Given the description of an element on the screen output the (x, y) to click on. 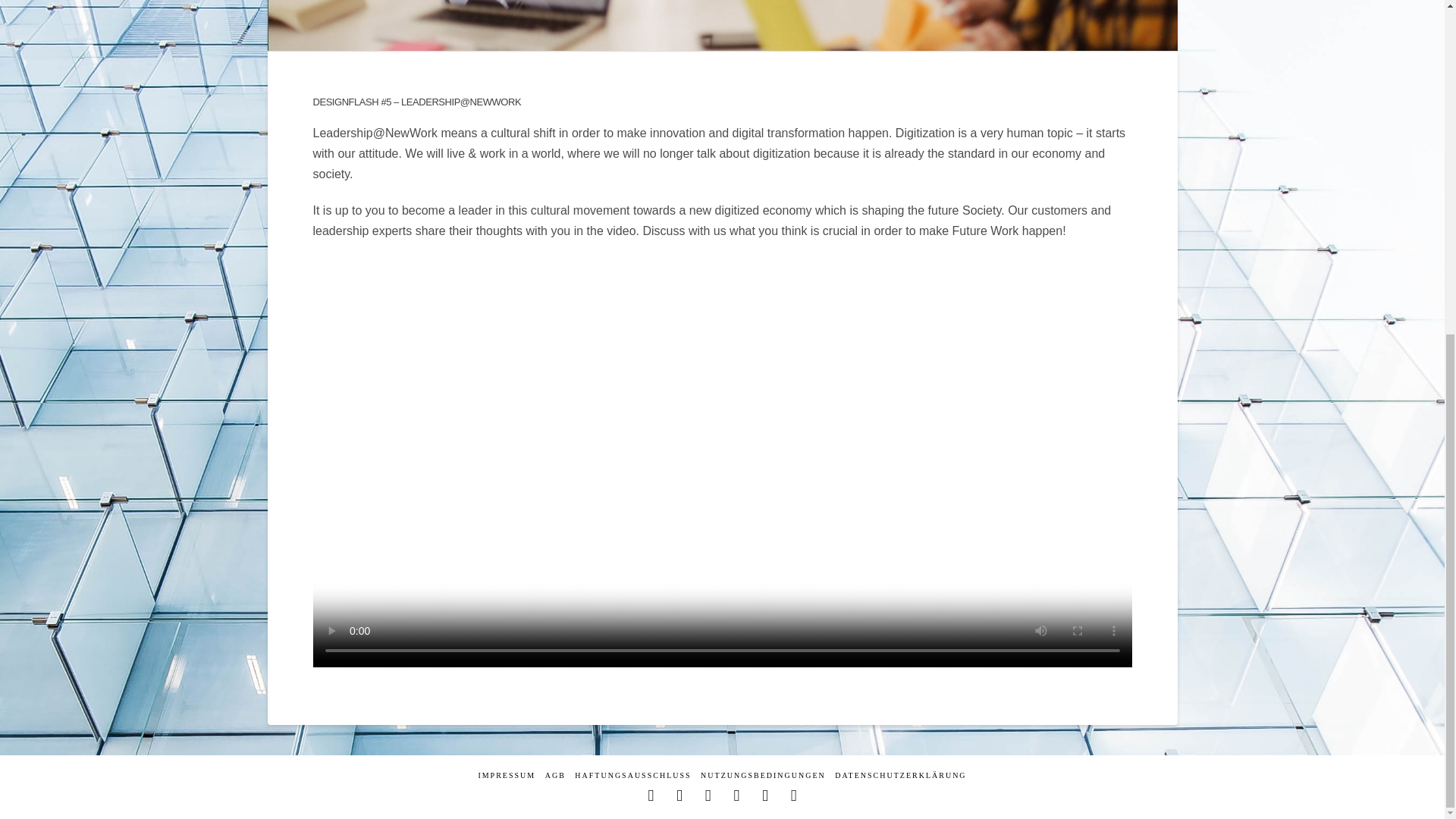
NUTZUNGSBEDINGUNGEN (762, 775)
IMPRESSUM (506, 775)
HAFTUNGSAUSSCHLUSS (632, 775)
AGB (555, 775)
